Given the description of an element on the screen output the (x, y) to click on. 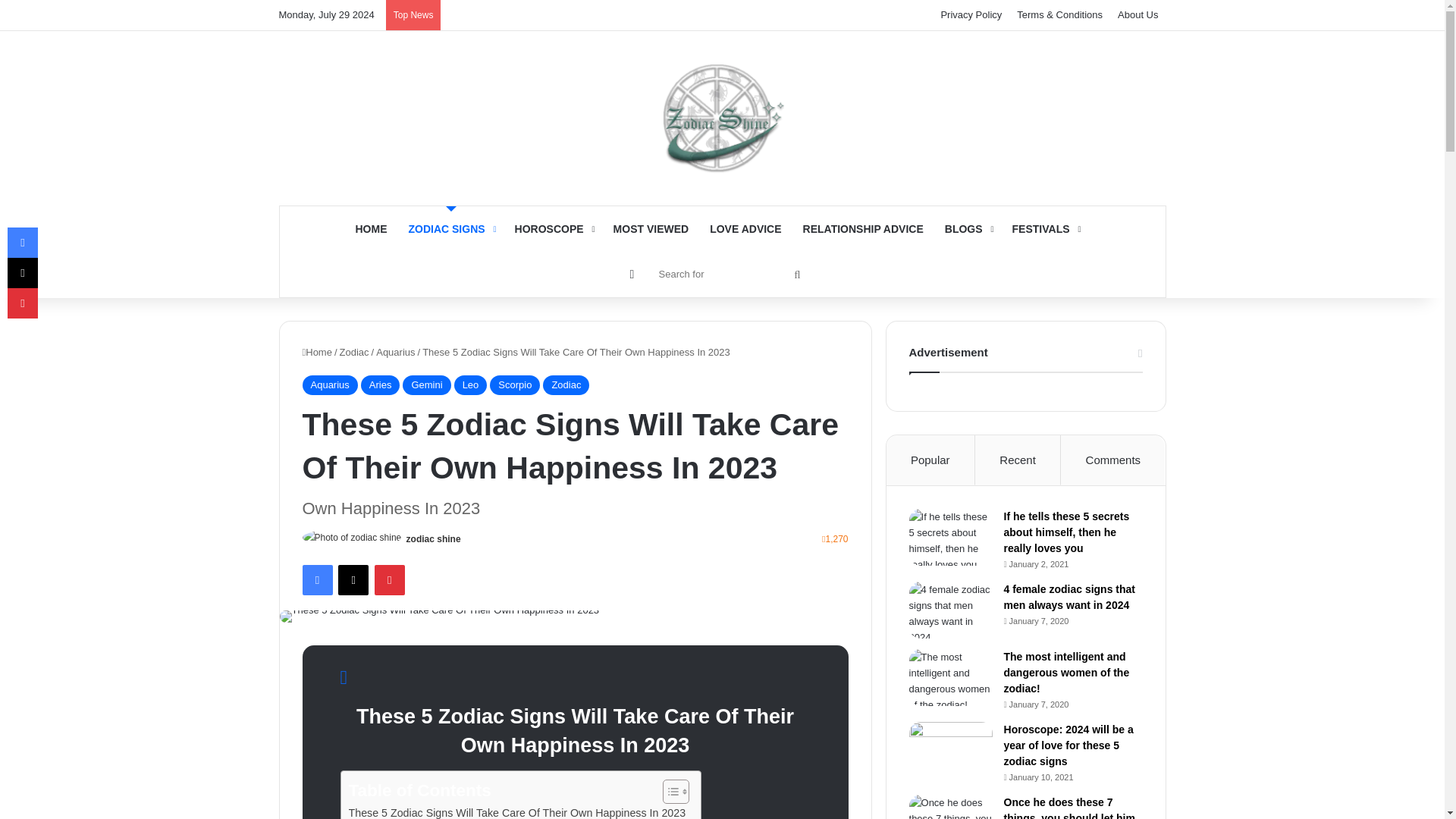
ZODIAC SIGNS (450, 228)
LOVE ADVICE (745, 228)
Pinterest (389, 580)
zodiac shine (433, 538)
HOROSCOPE (552, 228)
X (352, 580)
BLOGS (967, 228)
Zodiac Shine (722, 118)
HOME (370, 228)
Facebook (316, 580)
Search for (727, 273)
MOST VIEWED (651, 228)
RELATIONSHIP ADVICE (863, 228)
Privacy Policy (971, 15)
